Given the description of an element on the screen output the (x, y) to click on. 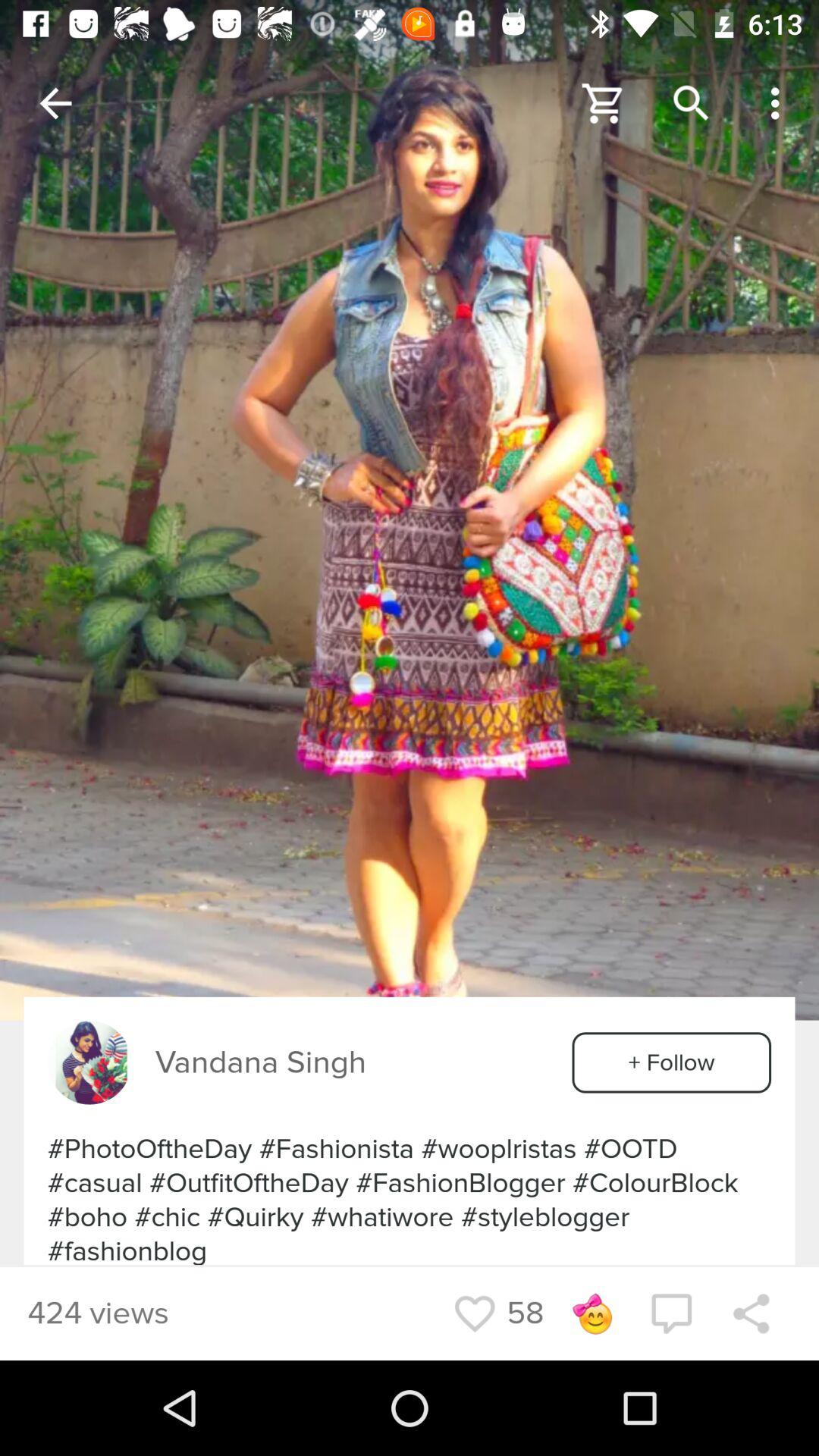
go to image (409, 510)
